Given the description of an element on the screen output the (x, y) to click on. 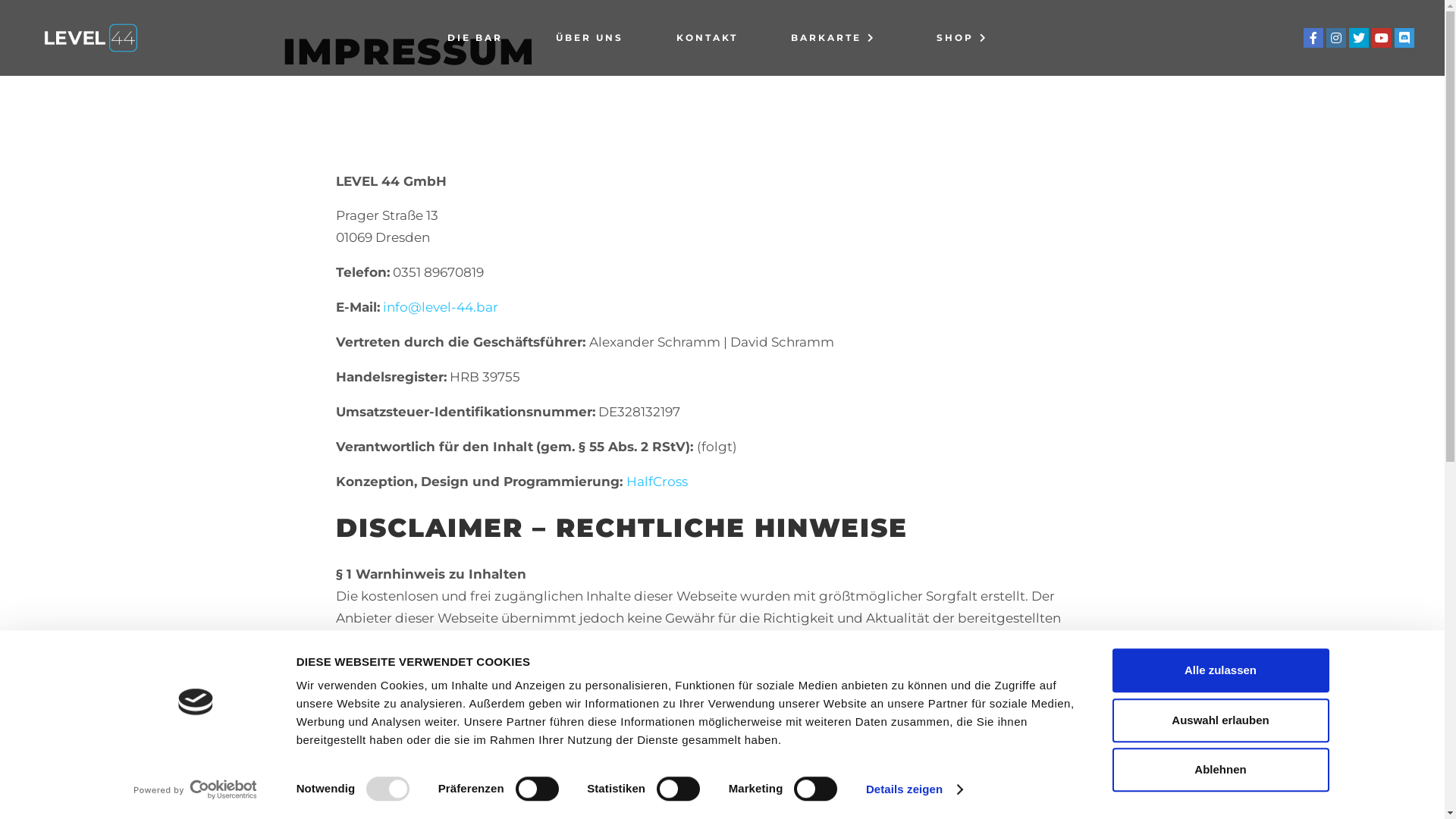
BARKARTE Element type: text (837, 37)
HalfCross Element type: text (656, 481)
info@level-44.bar Element type: text (439, 306)
Discord Element type: hover (1404, 37)
Facebook Element type: hover (1313, 37)
YouTube Element type: hover (1381, 37)
LEVEL 44 Element type: hover (90, 37)
Auswahl erlauben Element type: text (1219, 720)
Ablehnen Element type: text (1219, 769)
Alle zulassen Element type: text (1219, 670)
Details zeigen Element type: text (914, 789)
SHOP Element type: text (965, 37)
Twitter Element type: hover (1358, 37)
KONTAKT Element type: text (706, 37)
Instagram Element type: hover (1336, 37)
DIE BAR Element type: text (474, 37)
